Given the description of an element on the screen output the (x, y) to click on. 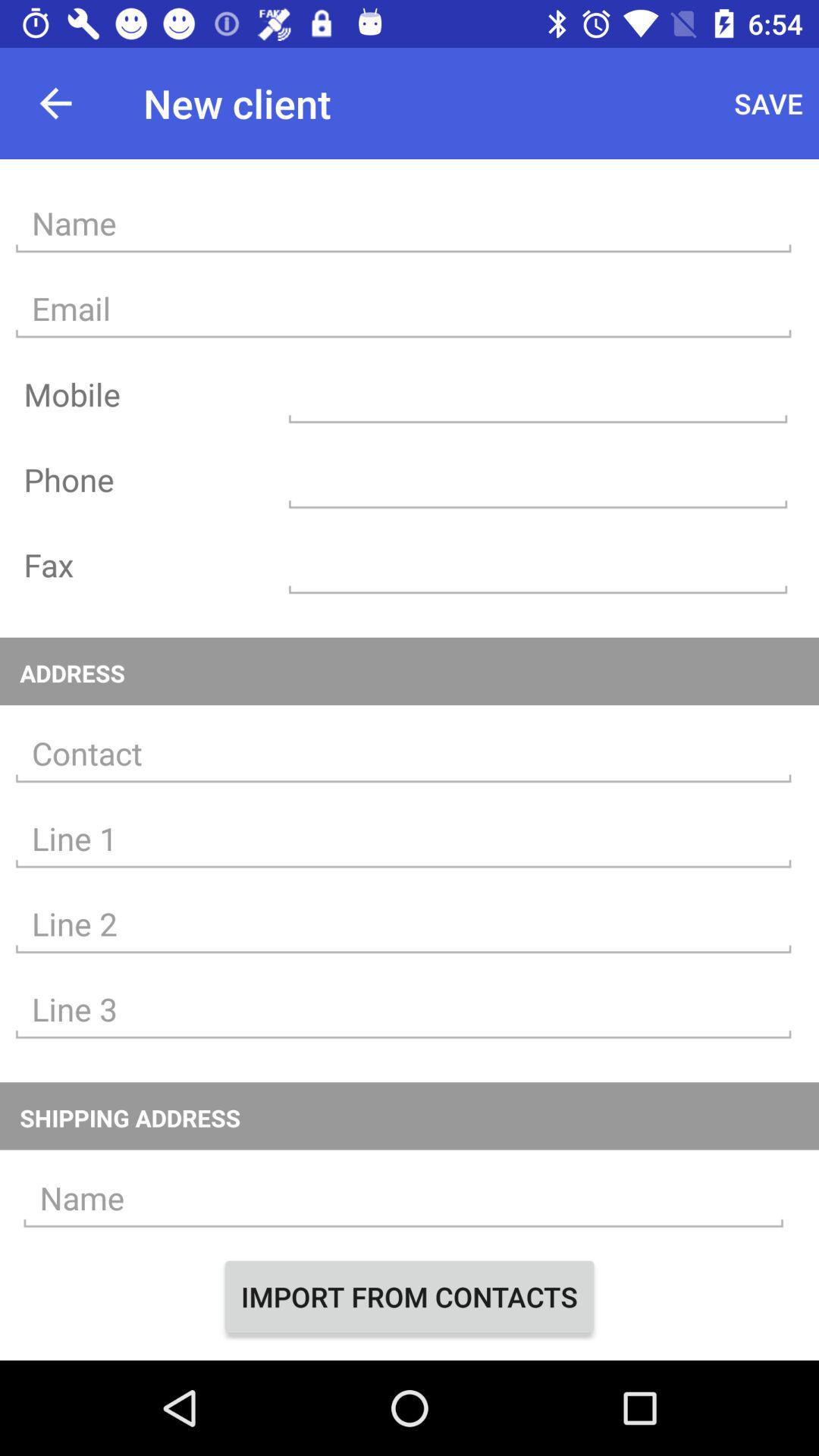
phone number (537, 479)
